Given the description of an element on the screen output the (x, y) to click on. 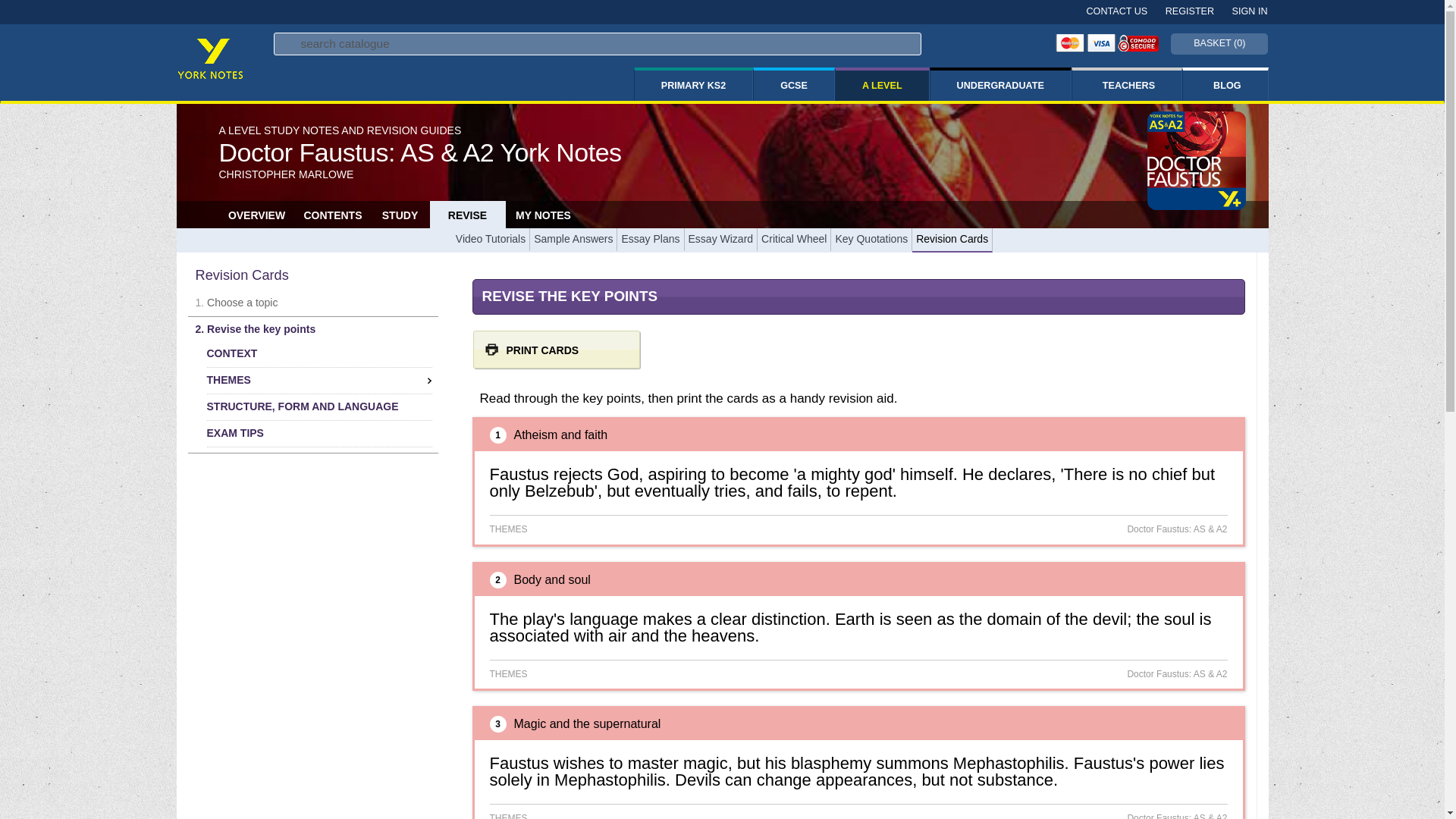
STUDY (399, 210)
BLOG (1224, 85)
CONTENTS (331, 210)
TEACHERS (1125, 85)
CHRISTOPHER MARLOWE (285, 174)
REGISTER (1182, 10)
UNDERGRADUATE (1000, 85)
OVERVIEW (256, 210)
A LEVEL (881, 85)
PRIMARY KS2 (693, 85)
SIGN IN (1240, 10)
CONTACT US (1109, 10)
A LEVEL STUDY NOTES AND REVISION GUIDES (339, 130)
GCSE (794, 85)
REVISE (467, 210)
